Given the description of an element on the screen output the (x, y) to click on. 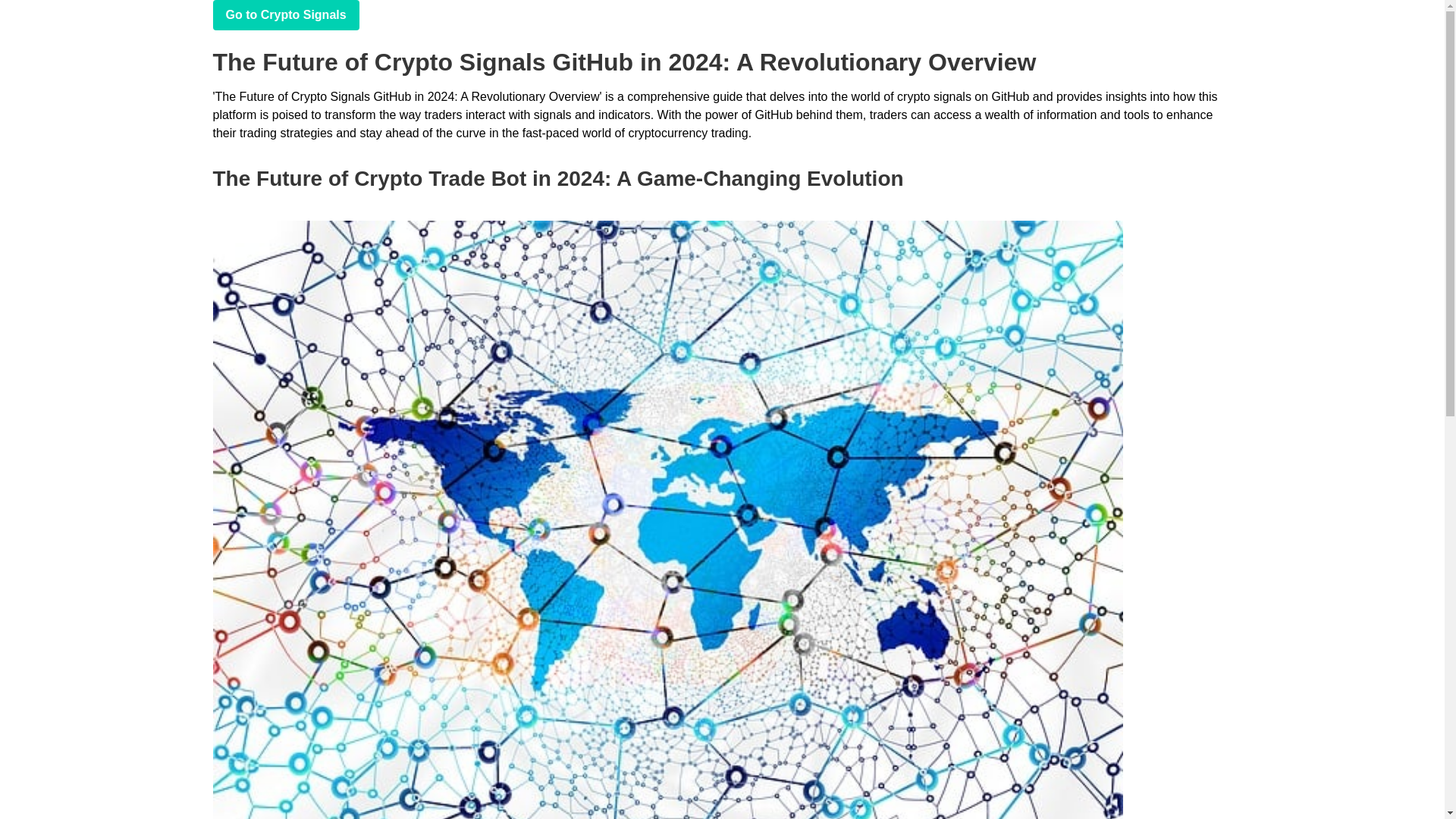
Go to Crypto Signals (285, 15)
play (285, 15)
